Given the description of an element on the screen output the (x, y) to click on. 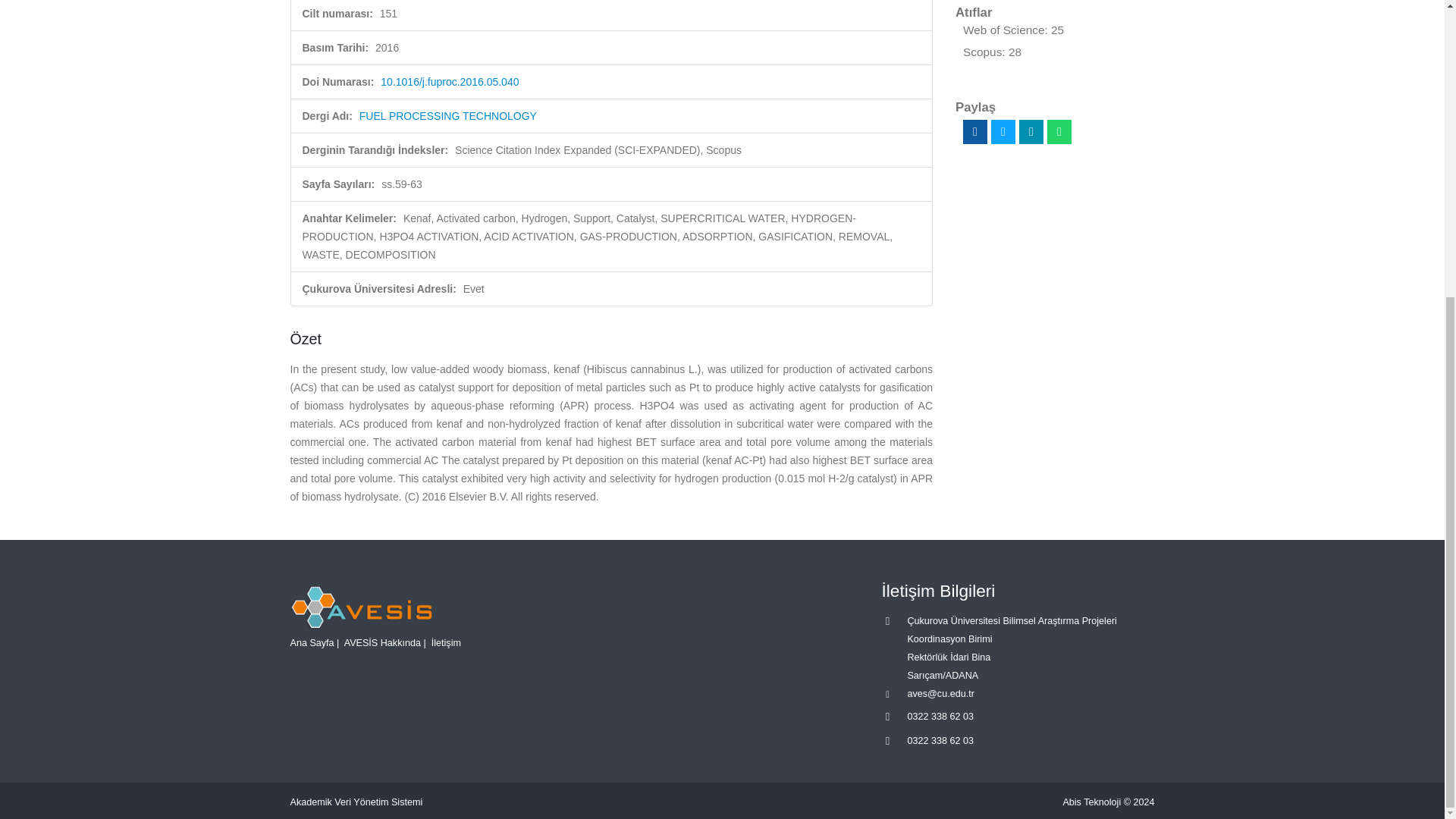
Ana Sayfa (311, 642)
Abis Teknoloji (1091, 801)
0322 338 62 03 (940, 740)
0322 338 62 03 (940, 716)
FUEL PROCESSING TECHNOLOGY (448, 115)
